Given the description of an element on the screen output the (x, y) to click on. 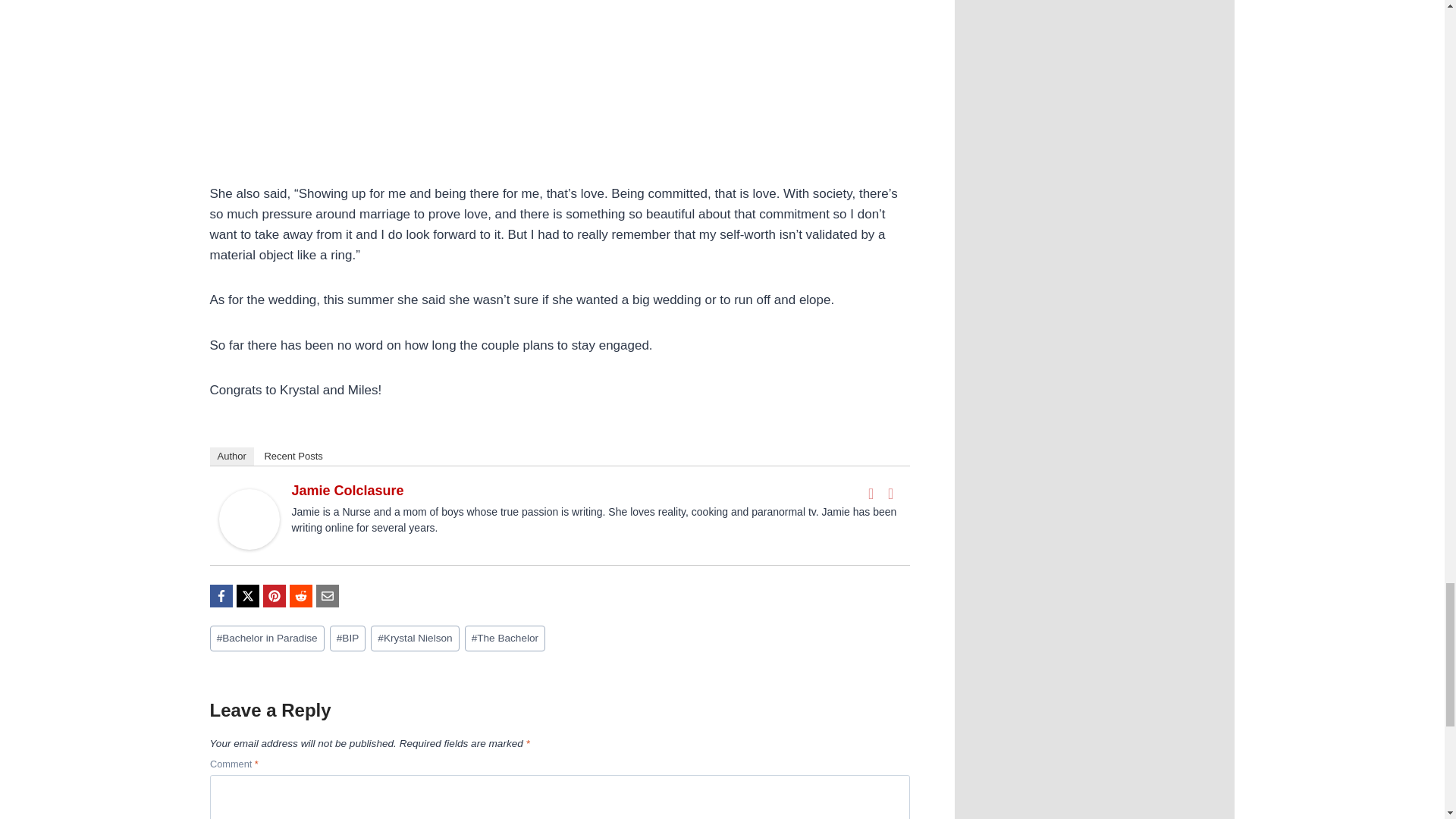
Jamie Colclasure (248, 518)
Twitter (890, 493)
Bachelor in Paradise (266, 638)
Recent Posts (293, 456)
Facebook (870, 493)
Author (231, 456)
The Bachelor (505, 638)
BIP (348, 638)
Jamie Colclasure (347, 490)
Krystal Nielson (415, 638)
